Given the description of an element on the screen output the (x, y) to click on. 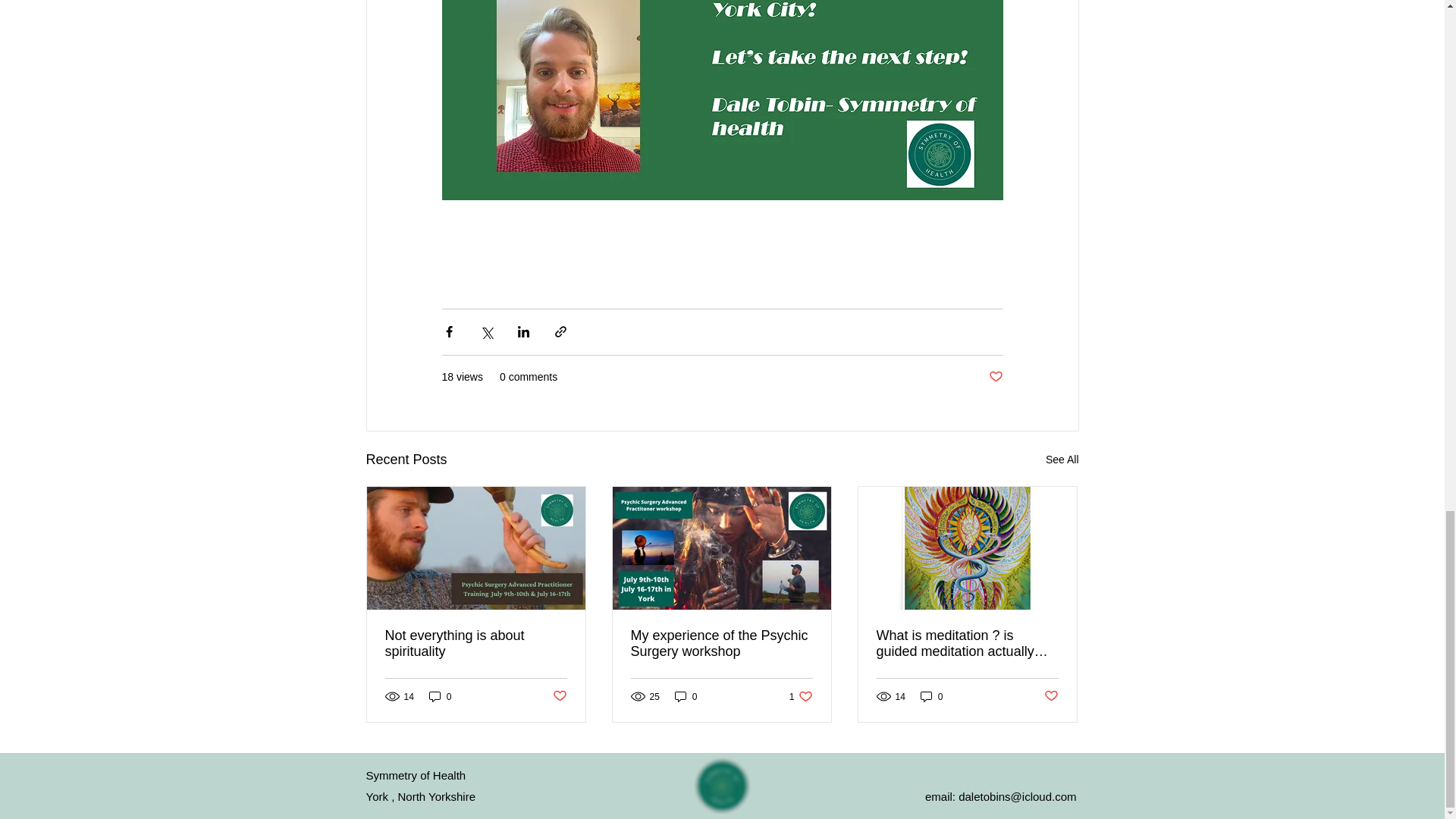
Post not marked as liked (800, 696)
See All (1050, 696)
Post not marked as liked (1061, 459)
Not everything is about spirituality (995, 376)
0 (476, 644)
0 (440, 696)
My experience of the Psychic Surgery workshop (931, 696)
Post not marked as liked (721, 644)
